Given the description of an element on the screen output the (x, y) to click on. 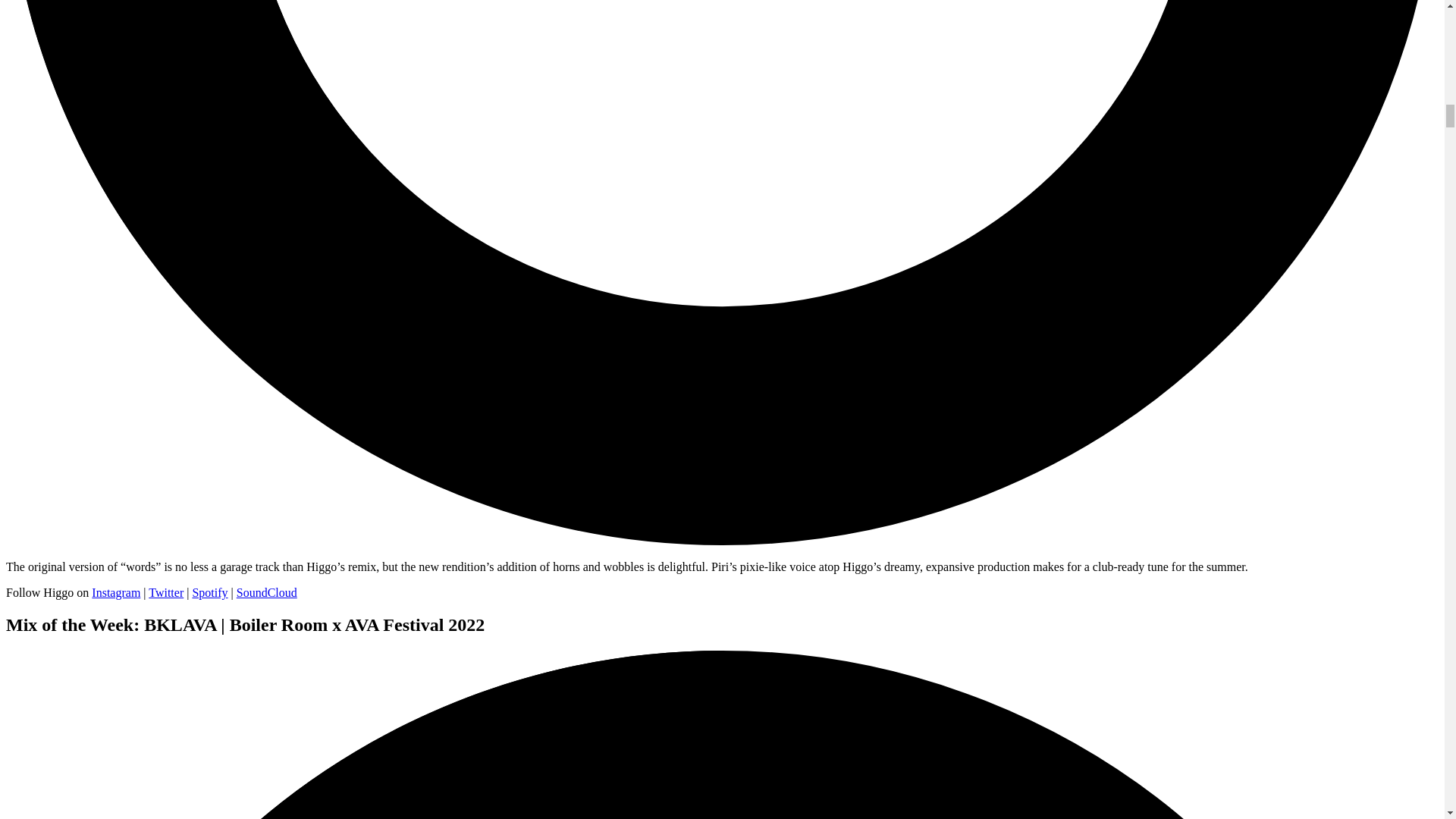
Instagram (115, 592)
Twitter (165, 592)
Spotify (209, 592)
SoundCloud (266, 592)
